Given the description of an element on the screen output the (x, y) to click on. 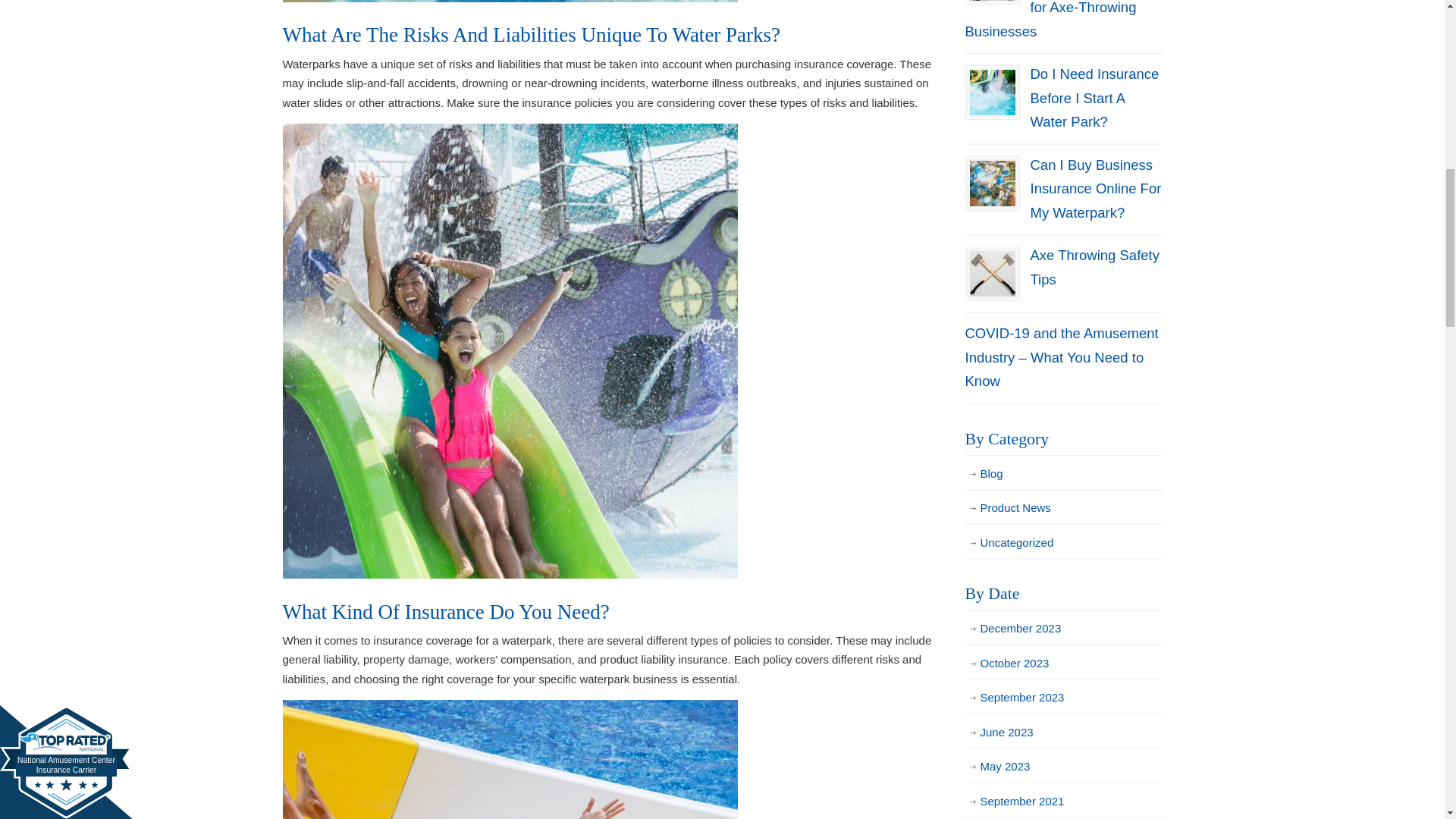
Do I Need Insurance Before I Start A Water Park? (1093, 97)
Do I Need Insurance Before I Start A Water Park? (991, 92)
